Given the description of an element on the screen output the (x, y) to click on. 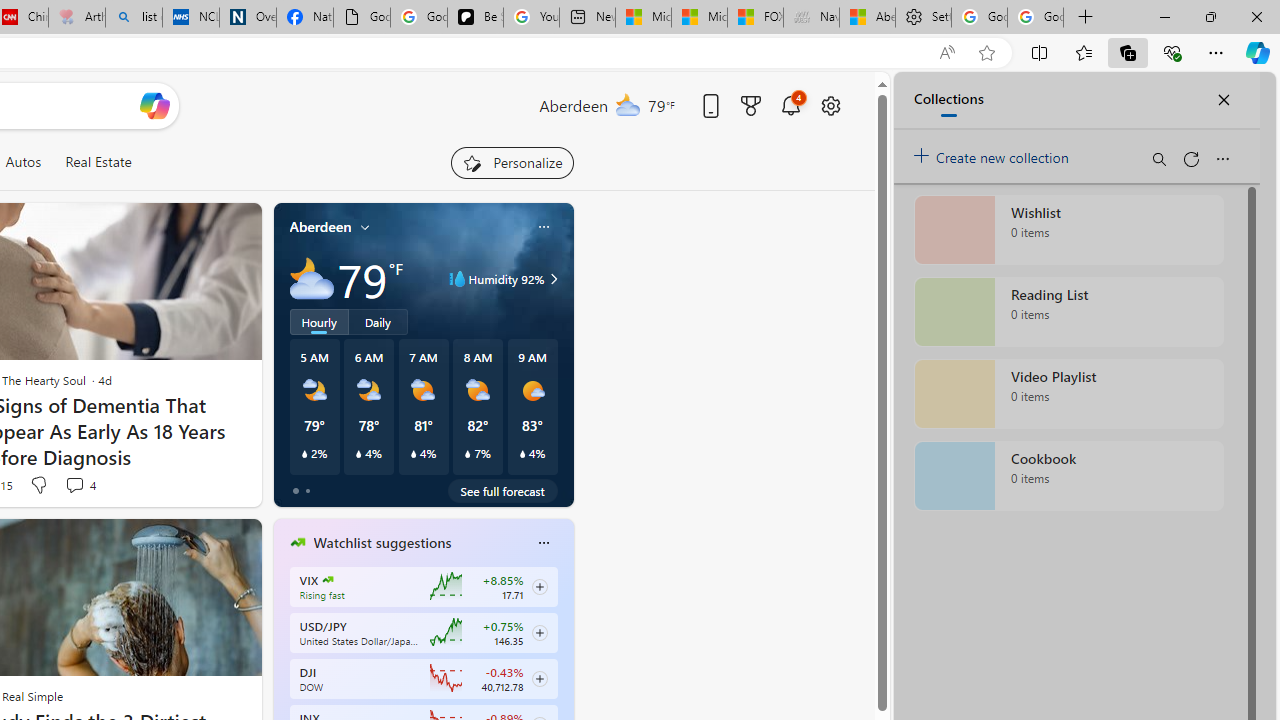
Class: icon-img (543, 542)
Class: weather-arrow-glyph (554, 278)
Hide this story (201, 542)
Aberdeen, Hong Kong SAR hourly forecast | Microsoft Weather (866, 17)
Google Analytics Opt-out Browser Add-on Download Page (362, 17)
